Given the description of an element on the screen output the (x, y) to click on. 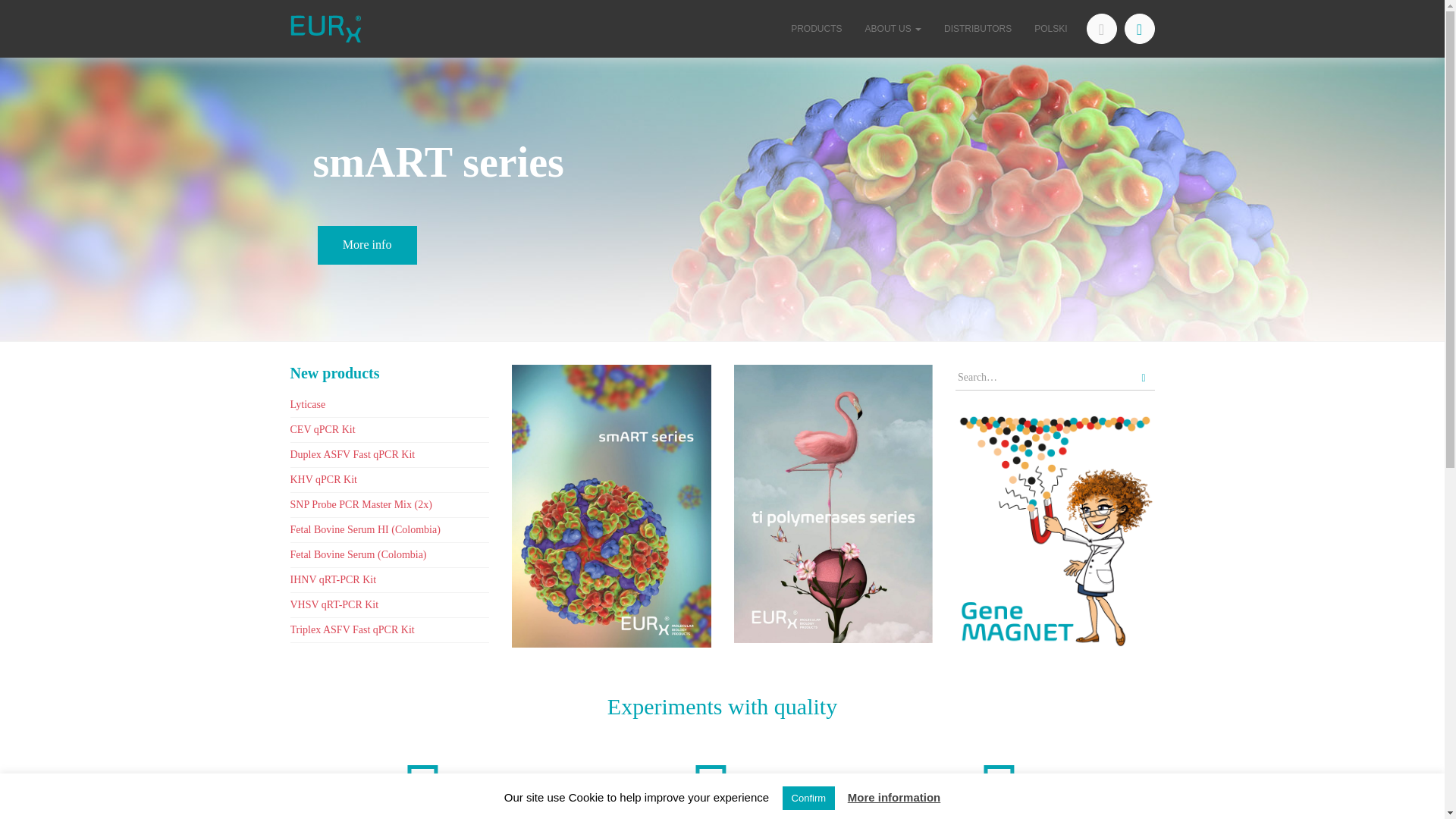
ABOUT US (893, 28)
Duplex ASFV Fast qPCR Kit (351, 454)
About Us (893, 28)
CEV qPCR Kit (322, 429)
Distributors (978, 28)
PRODUCTS (815, 28)
Polski (1050, 28)
Triplex ASFV Fast qPCR Kit (351, 629)
IHNV qRT-PCR Kit (332, 579)
KHV qPCR Kit (322, 479)
Confirm (809, 797)
Products (815, 28)
More info (366, 244)
VHSV qRT-PCR Kit (333, 604)
Search for: (1043, 377)
